Given the description of an element on the screen output the (x, y) to click on. 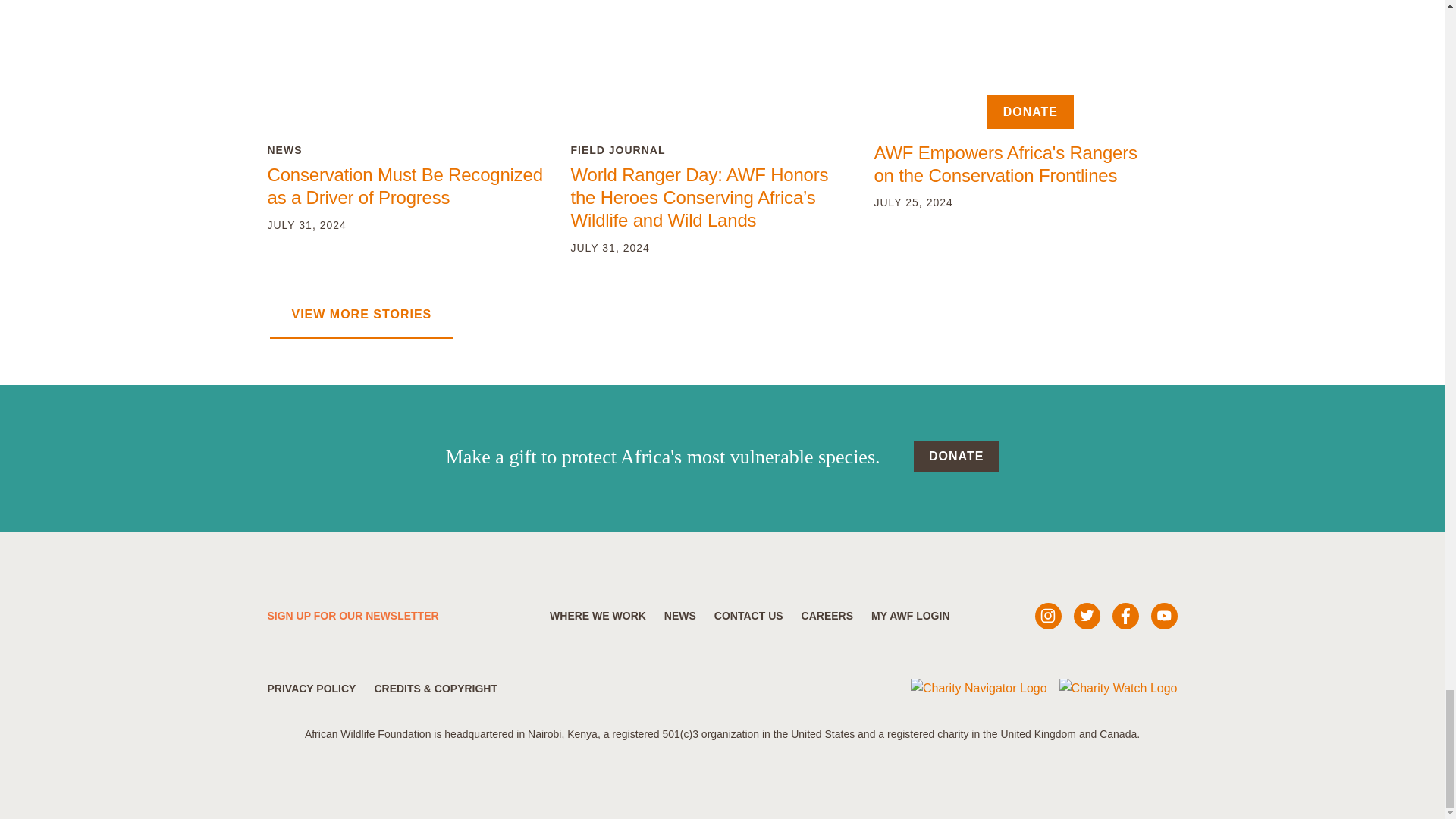
Donate (956, 456)
